Given the description of an element on the screen output the (x, y) to click on. 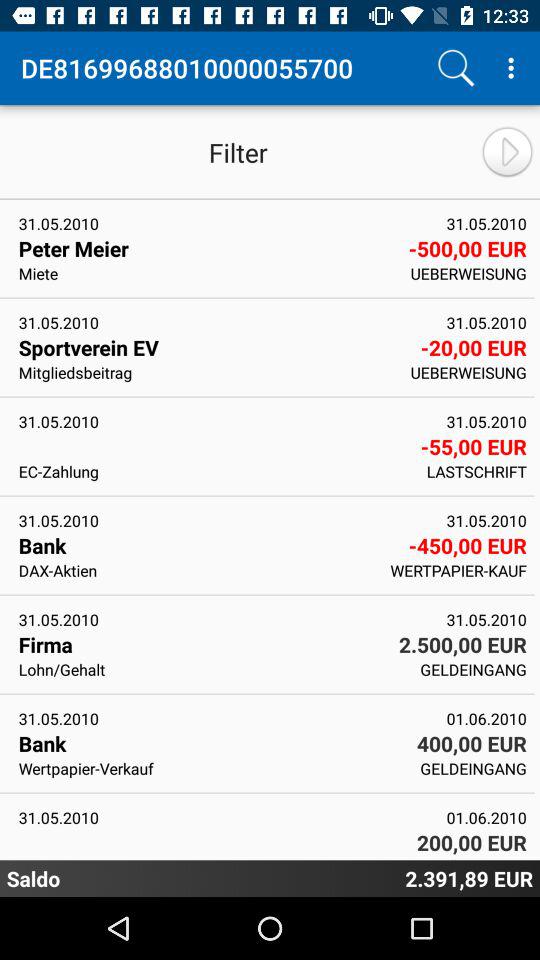
choose the icon next to -500,00 eur icon (207, 273)
